Given the description of an element on the screen output the (x, y) to click on. 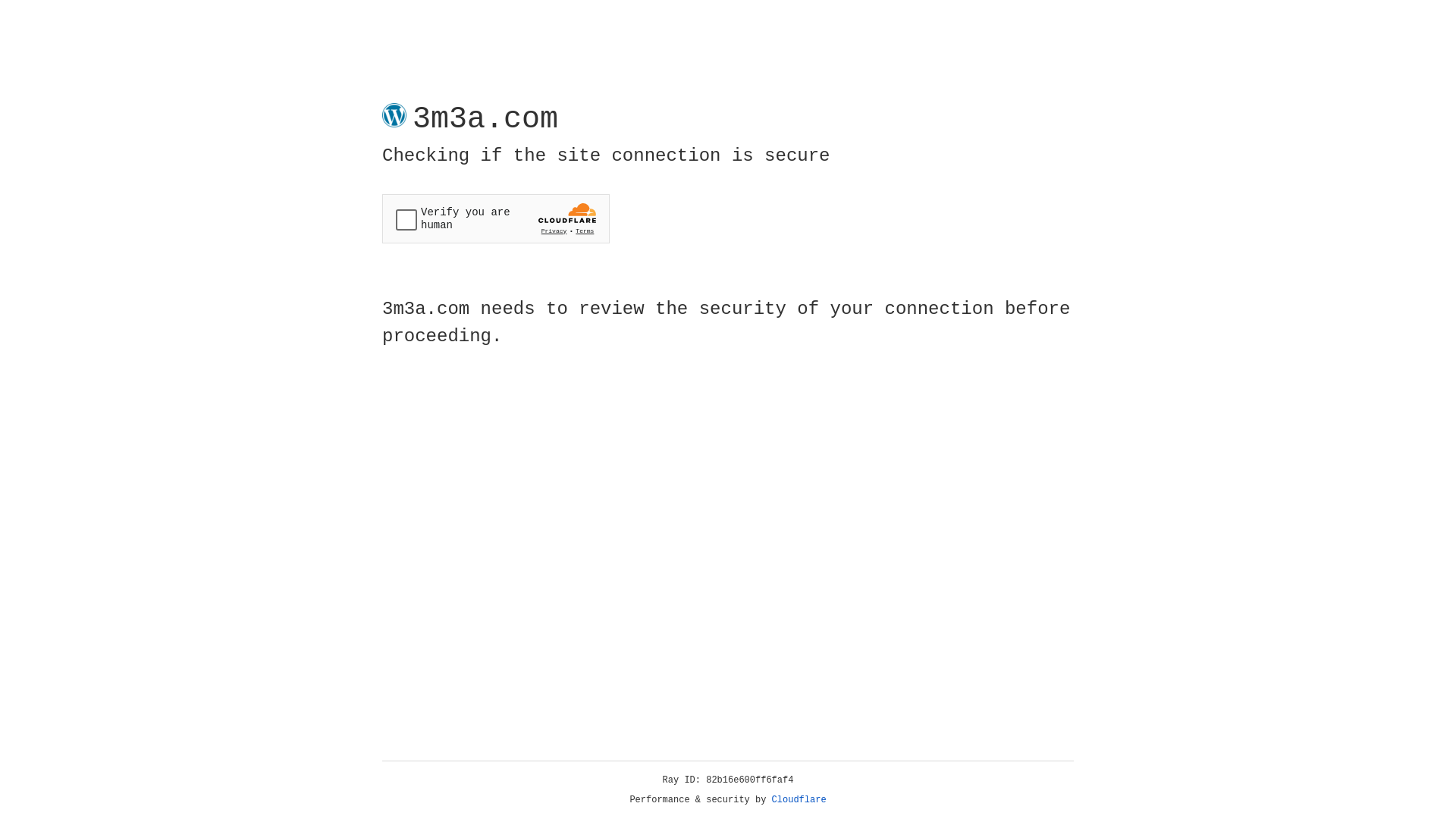
Widget containing a Cloudflare security challenge Element type: hover (495, 218)
Cloudflare Element type: text (798, 799)
